Given the description of an element on the screen output the (x, y) to click on. 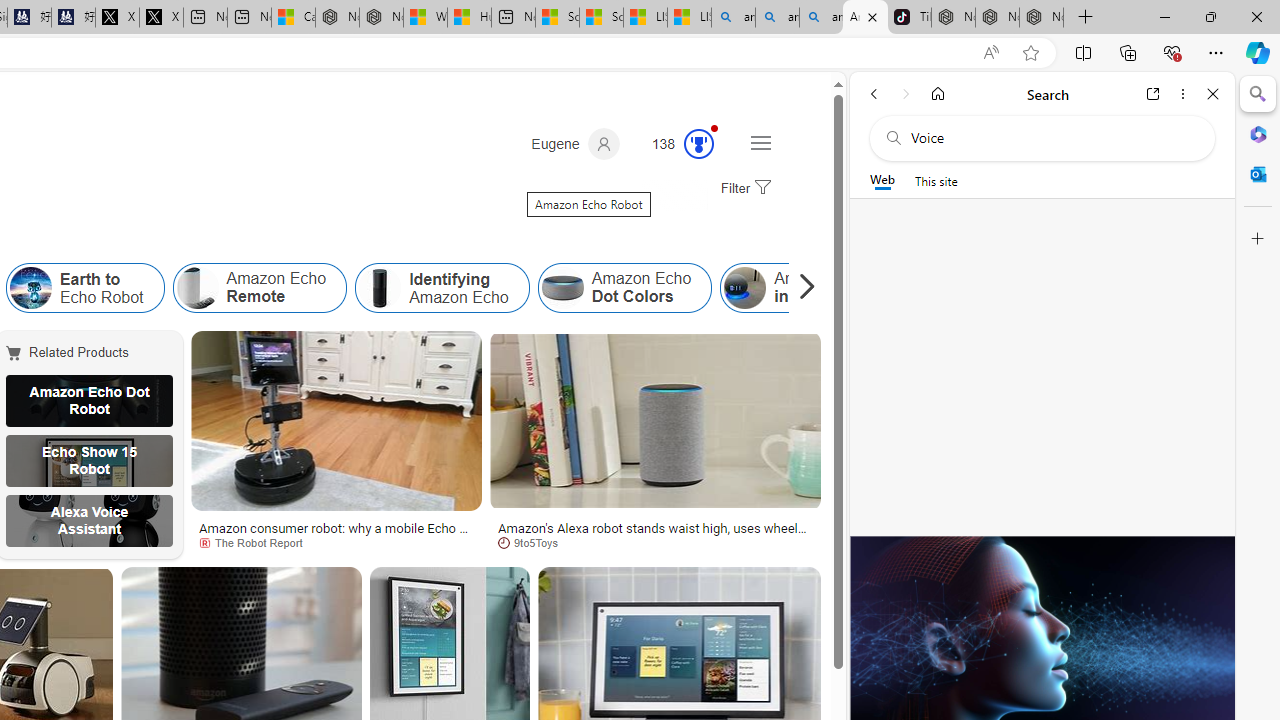
9to5Toys (654, 542)
The Robot Report (335, 542)
amazon - Search Images (821, 17)
Web scope (882, 180)
Amazon Echo Remote (197, 287)
Home (938, 93)
Identifying Amazon Echo (441, 287)
Amazon Echo in Action (806, 287)
Amazon Echo Dot Colors (624, 287)
Class: outer-circle-animation (699, 143)
